Given the description of an element on the screen output the (x, y) to click on. 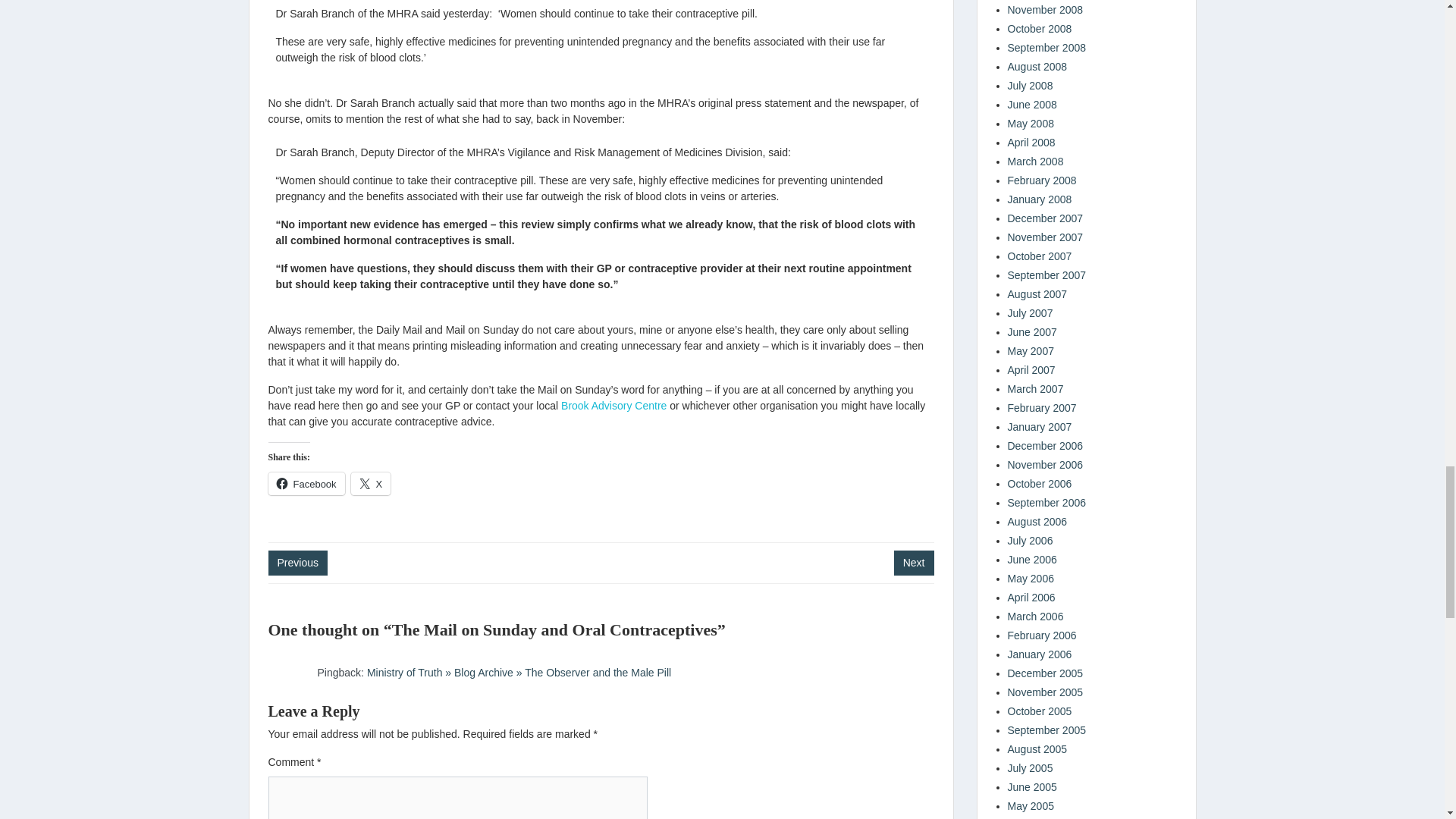
Previous (297, 562)
Click to share on X (370, 483)
Next (913, 562)
Brook Advisory Centre (613, 405)
X (370, 483)
Facebook (306, 483)
Click to share on Facebook (306, 483)
